Given the description of an element on the screen output the (x, y) to click on. 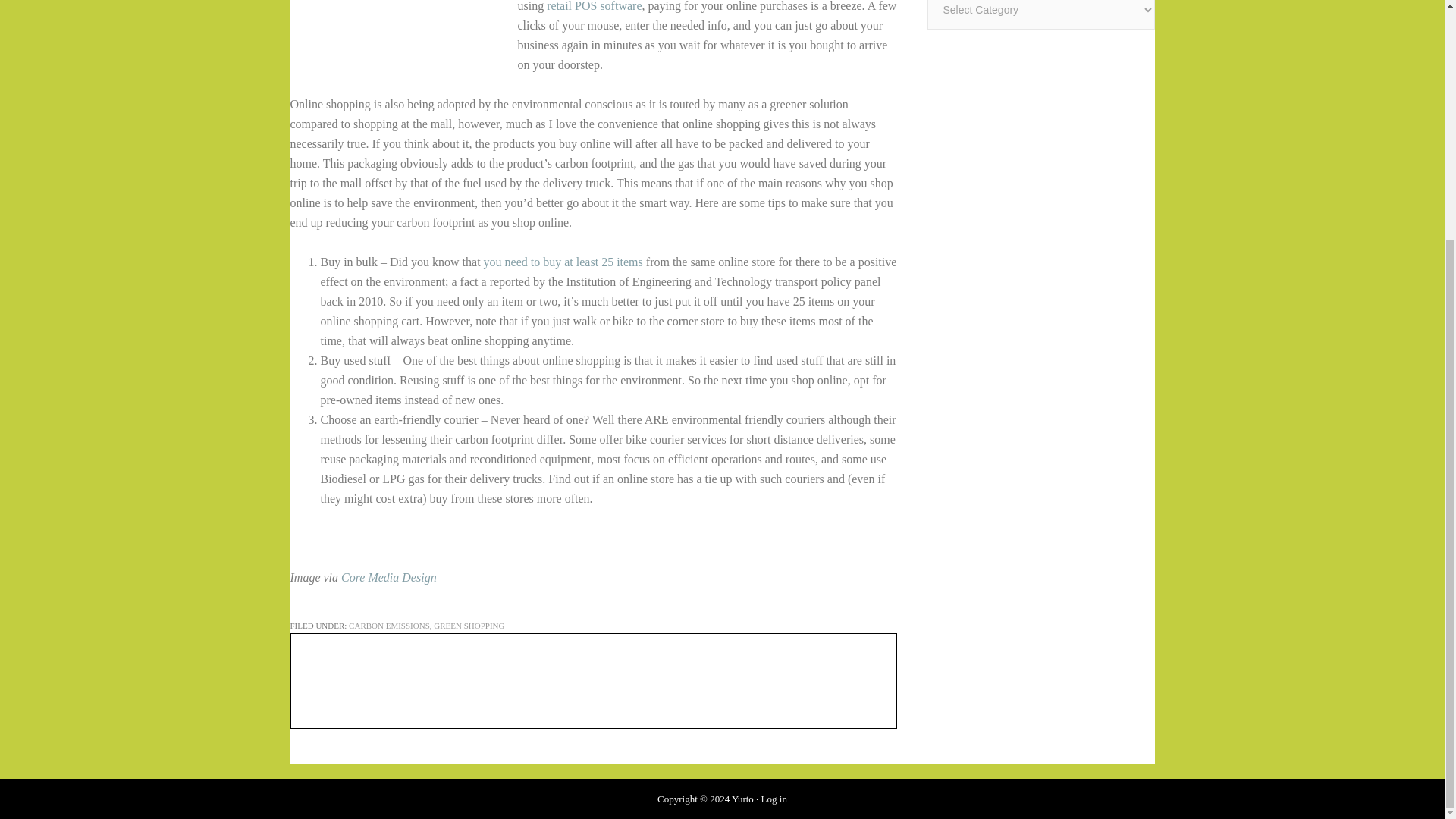
you need to buy at least 25 items (563, 261)
retail POS software (594, 6)
Core Media Design (388, 576)
Log in (774, 798)
CARBON EMISSIONS (389, 624)
GREEN SHOPPING (468, 624)
